Given the description of an element on the screen output the (x, y) to click on. 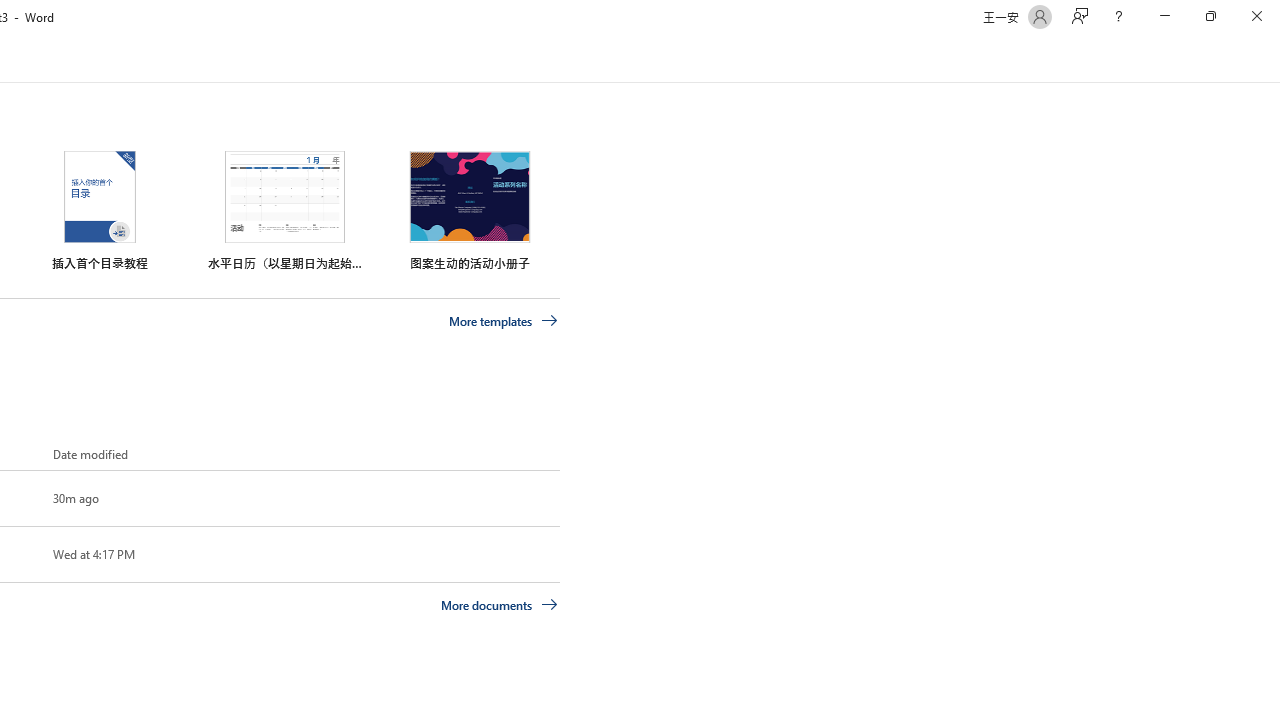
Close (1256, 16)
Minimize (1164, 16)
More documents (499, 604)
Class: NetUIScrollBar (1271, 59)
Help (1118, 16)
Restore Down (1210, 16)
Pin this item to the list (20, 553)
More templates (503, 321)
